Given the description of an element on the screen output the (x, y) to click on. 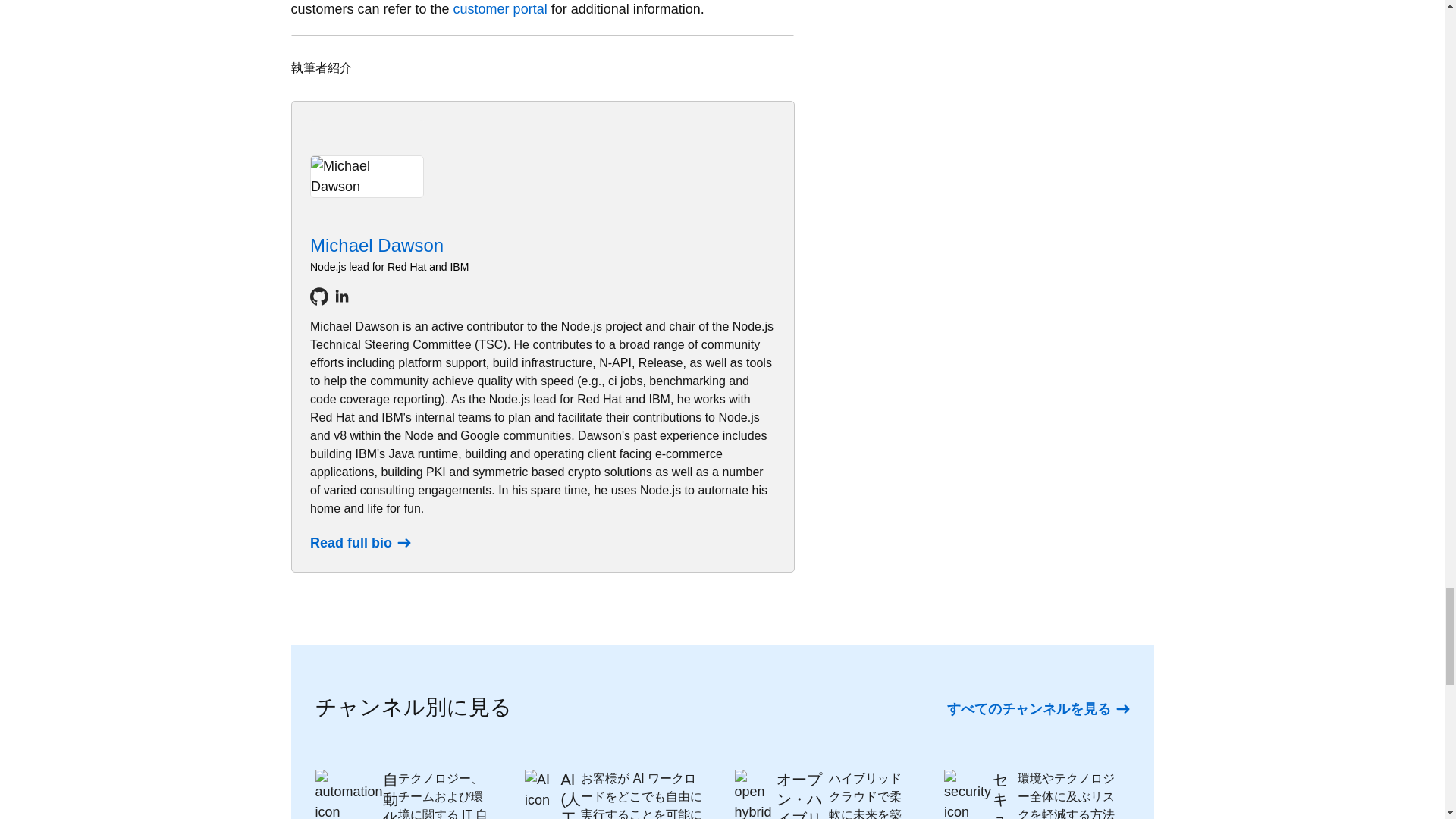
Follow Michael Dawson LinkedIn (341, 296)
Follow Michael Dawson on Github (317, 296)
